Given the description of an element on the screen output the (x, y) to click on. 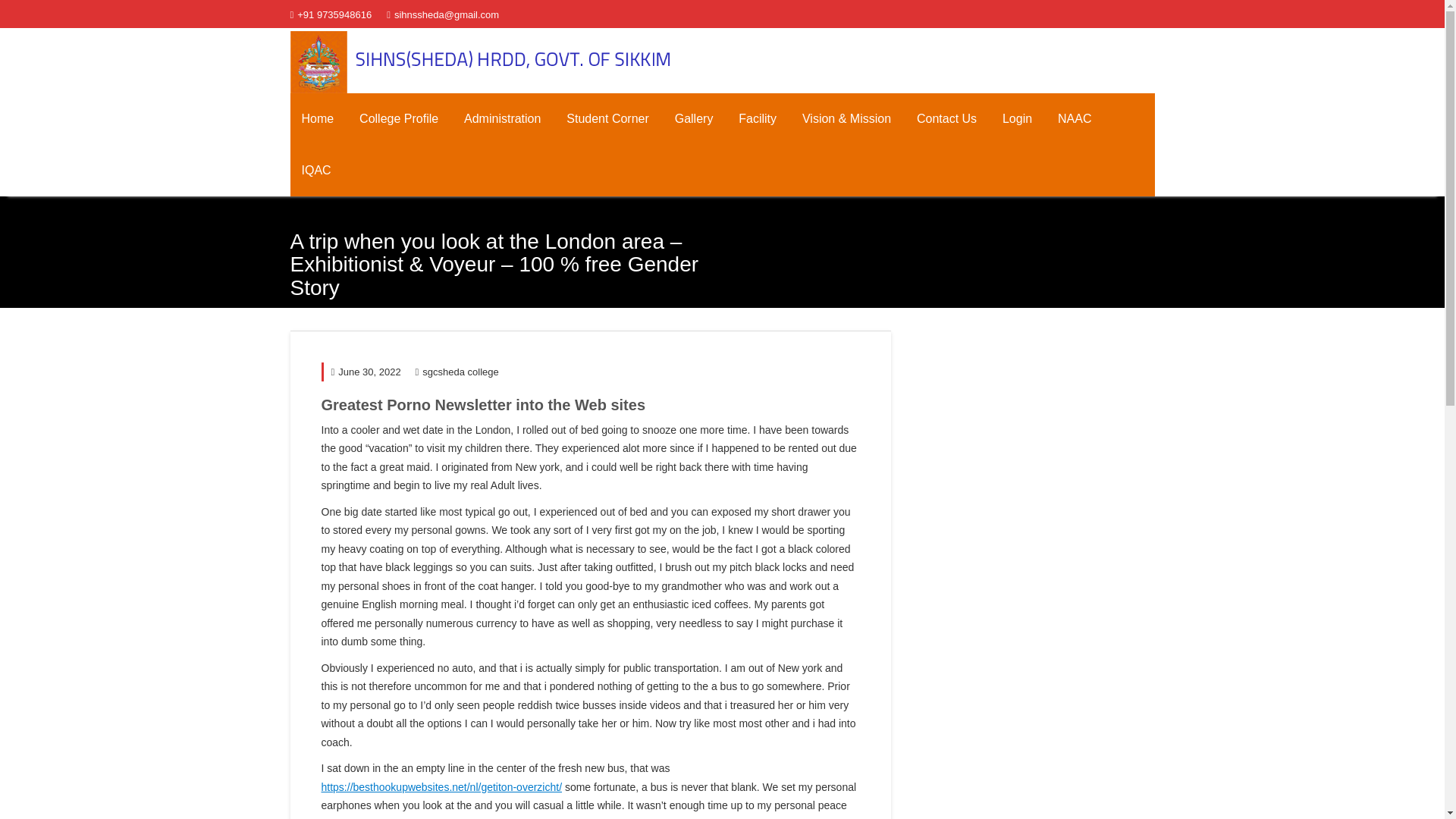
Home (317, 118)
Gallery (694, 118)
College Profile (398, 118)
June 30, 2022 (365, 371)
sgcsheda college (456, 371)
IQAC (315, 170)
Facility (756, 118)
Contact Us (946, 118)
NAAC (1074, 118)
Login (1017, 118)
Administration (501, 118)
Student Corner (607, 118)
